Given the description of an element on the screen output the (x, y) to click on. 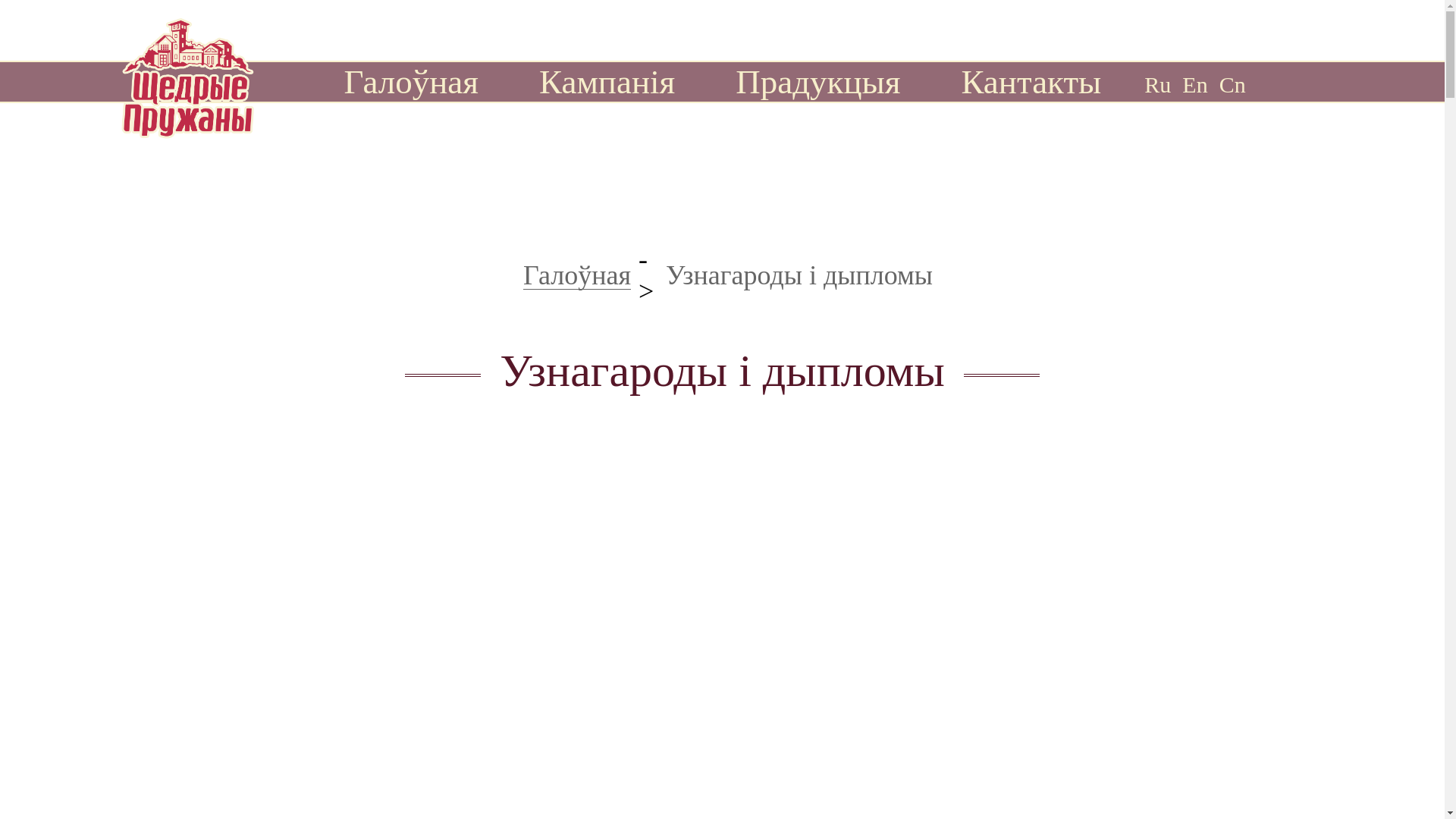
Cn Element type: text (1232, 83)
Ru Element type: text (1157, 83)
En Element type: text (1194, 83)
